Given the description of an element on the screen output the (x, y) to click on. 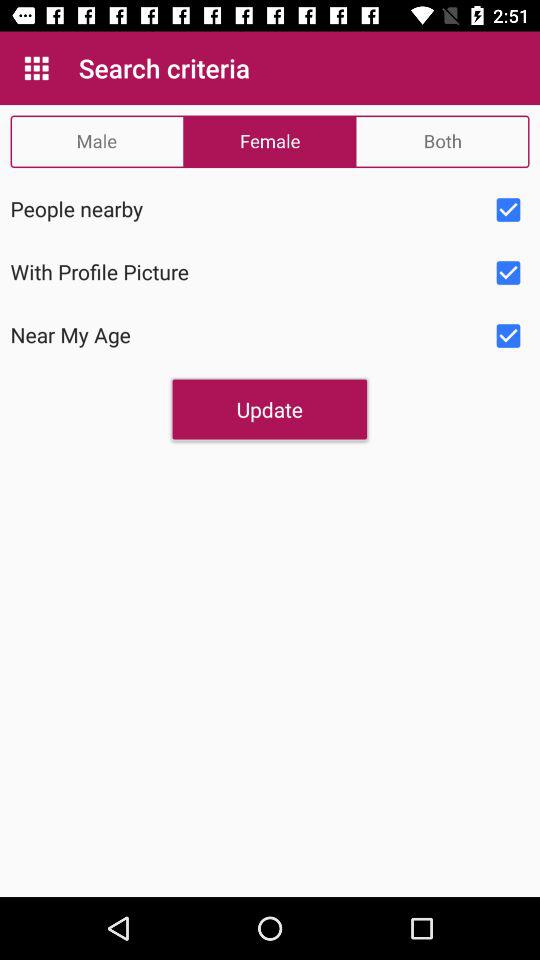
check box to select people nearby (508, 210)
